Given the description of an element on the screen output the (x, y) to click on. 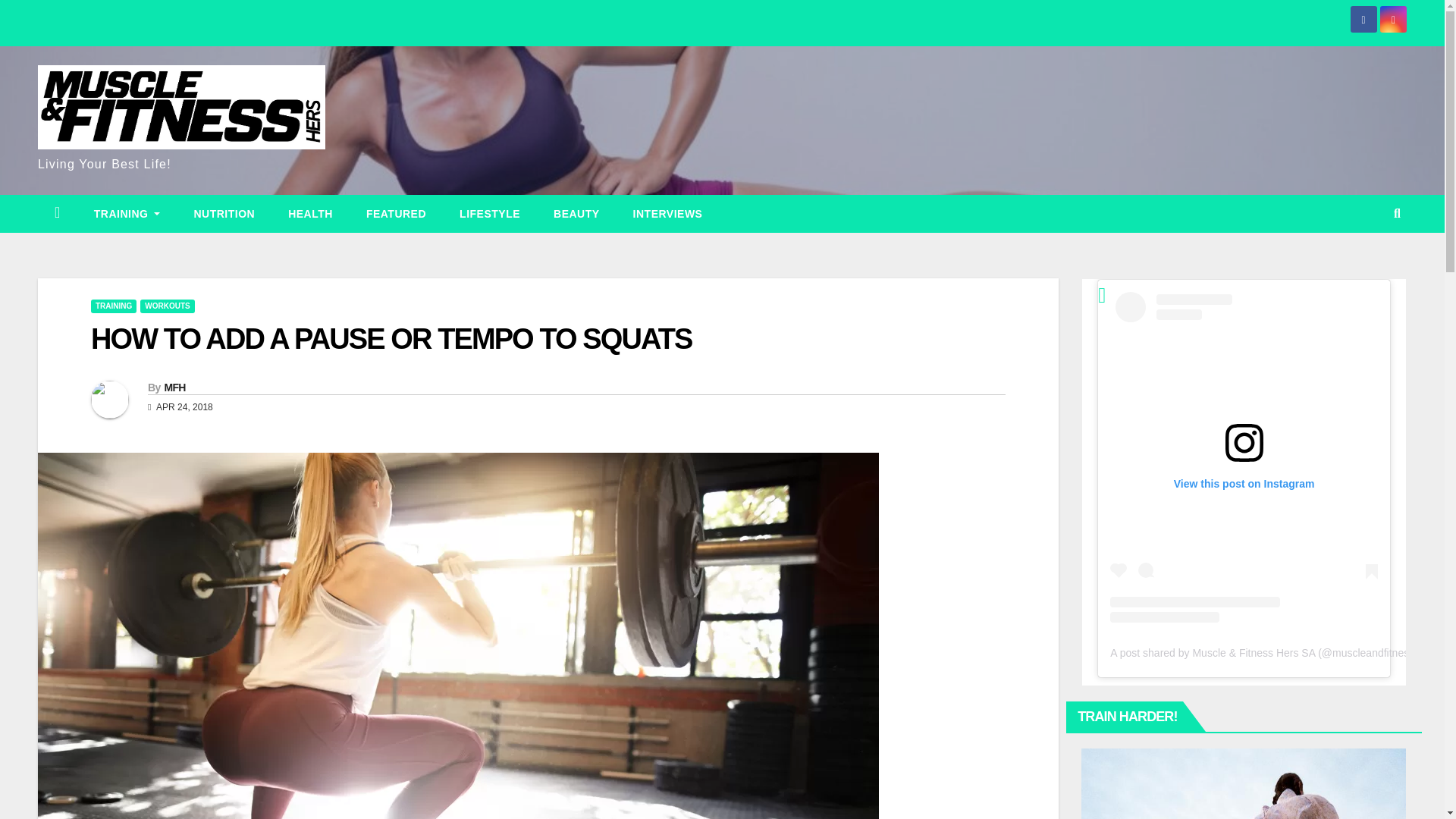
LIFESTYLE (489, 213)
NUTRITION (223, 213)
BEAUTY (576, 213)
WORKOUTS (166, 305)
LIfestyle (489, 213)
Featured (395, 213)
MFH (173, 387)
TRAINING (113, 305)
INTERVIEWS (667, 213)
TRAINING (127, 213)
Nutrition (223, 213)
Health (309, 213)
Beauty (576, 213)
FEATURED (395, 213)
Training (127, 213)
